Given the description of an element on the screen output the (x, y) to click on. 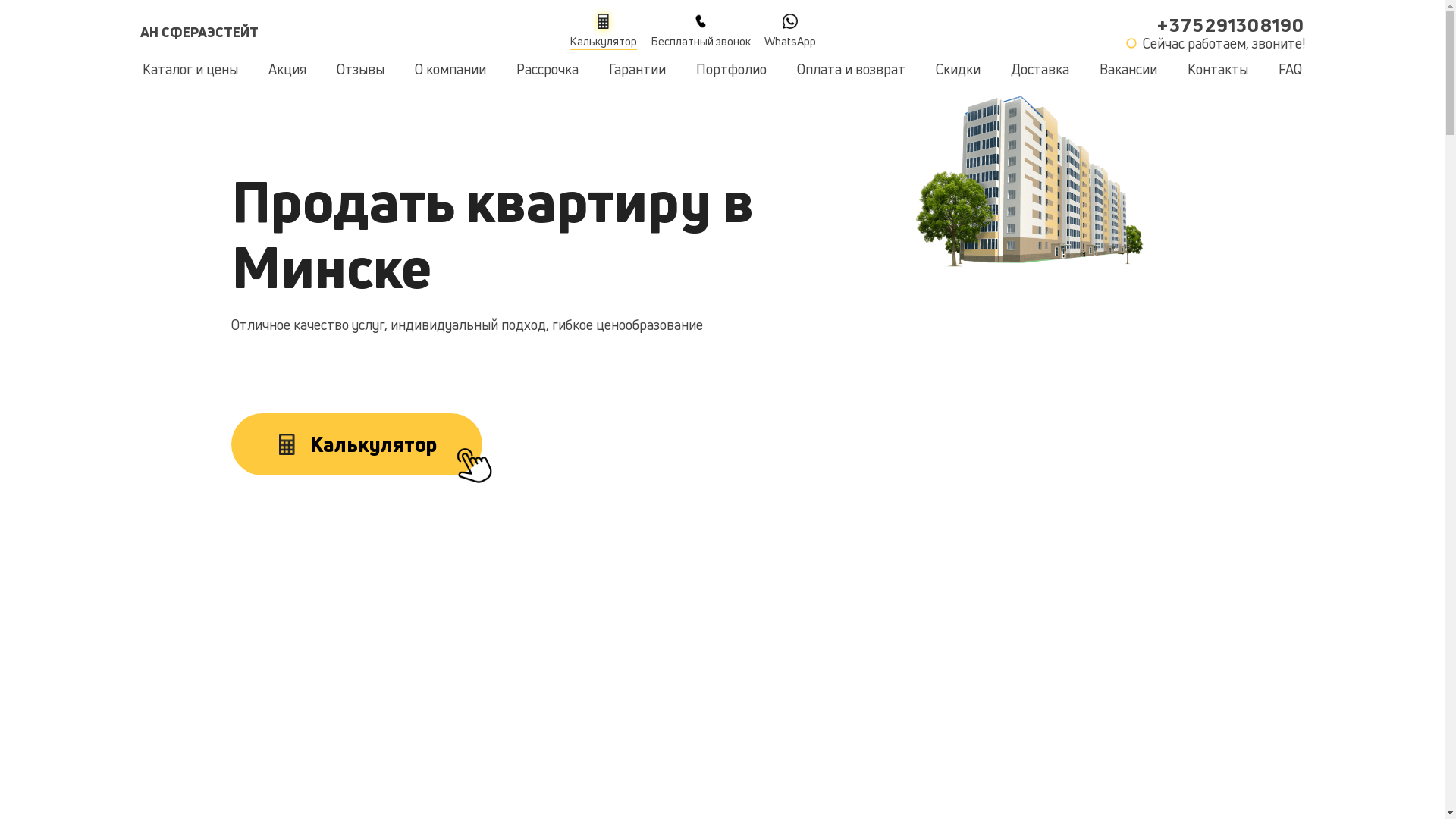
+375291308190 Element type: text (1230, 24)
WhatsApp Element type: text (789, 31)
FAQ Element type: text (1290, 68)
